Given the description of an element on the screen output the (x, y) to click on. 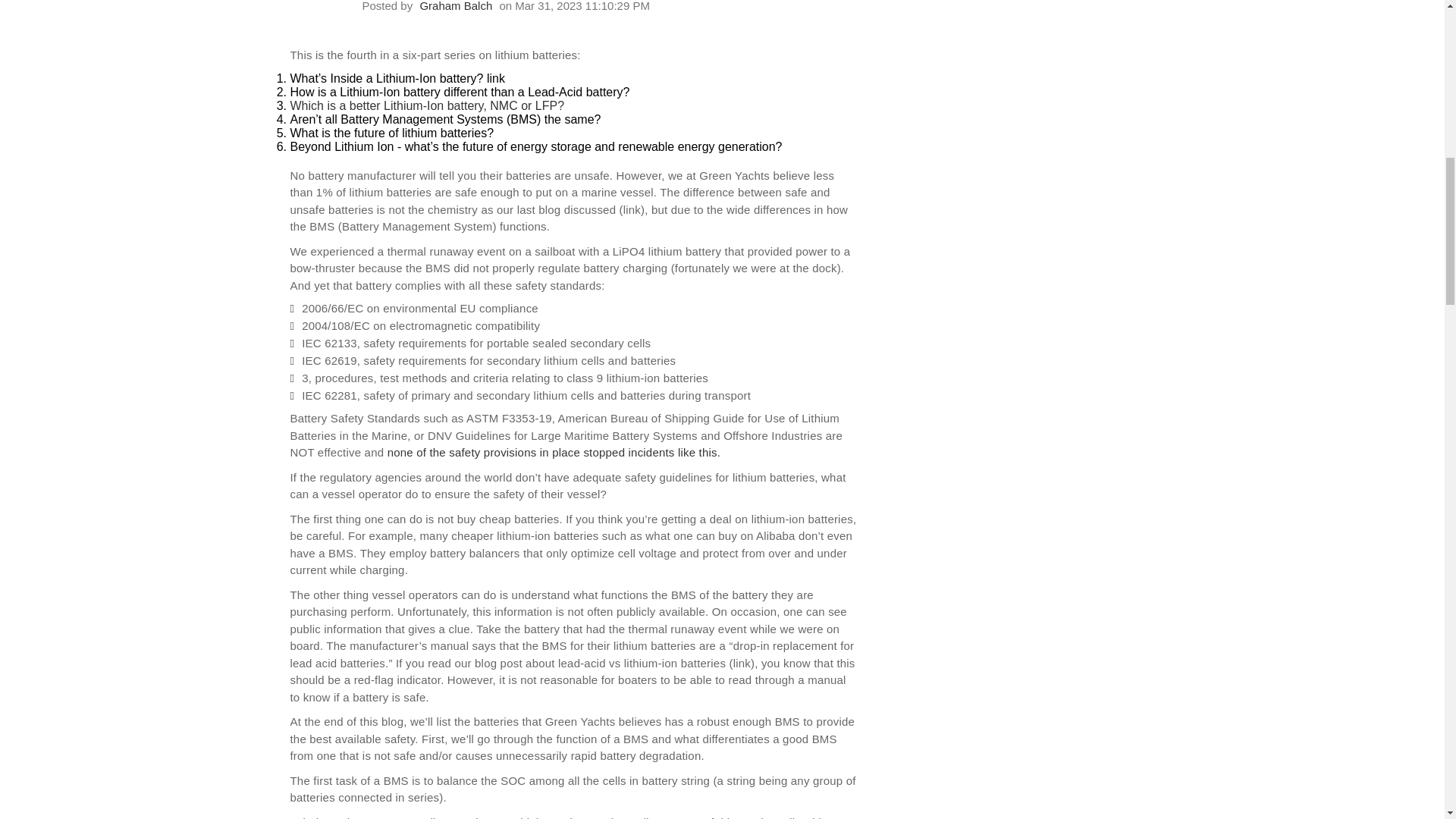
Which is a better Lithium-Ion battery, NMC or LFP? (426, 105)
Graham Balch (455, 6)
